Given the description of an element on the screen output the (x, y) to click on. 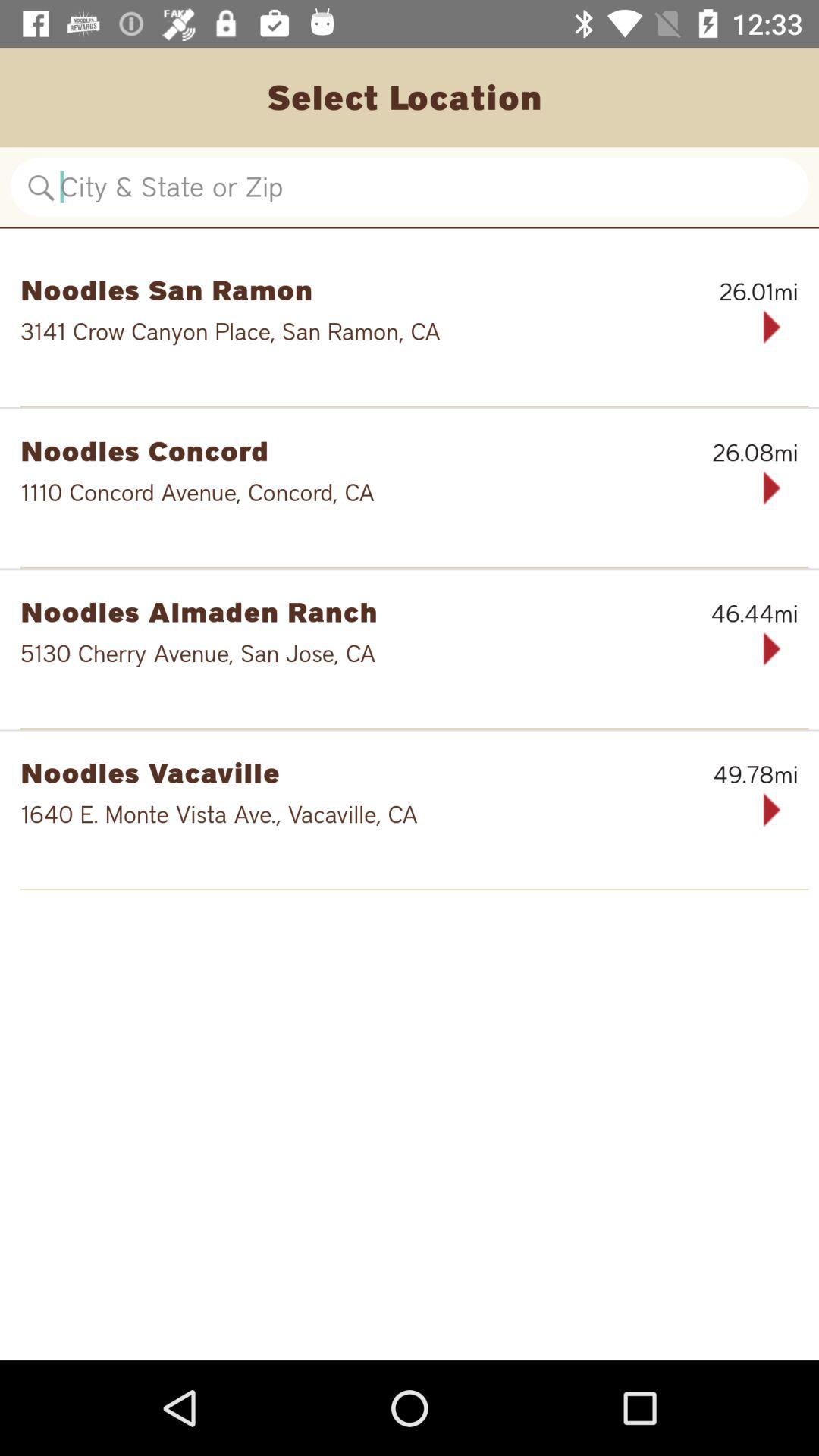
press the noodles concord  item (331, 450)
